Given the description of an element on the screen output the (x, y) to click on. 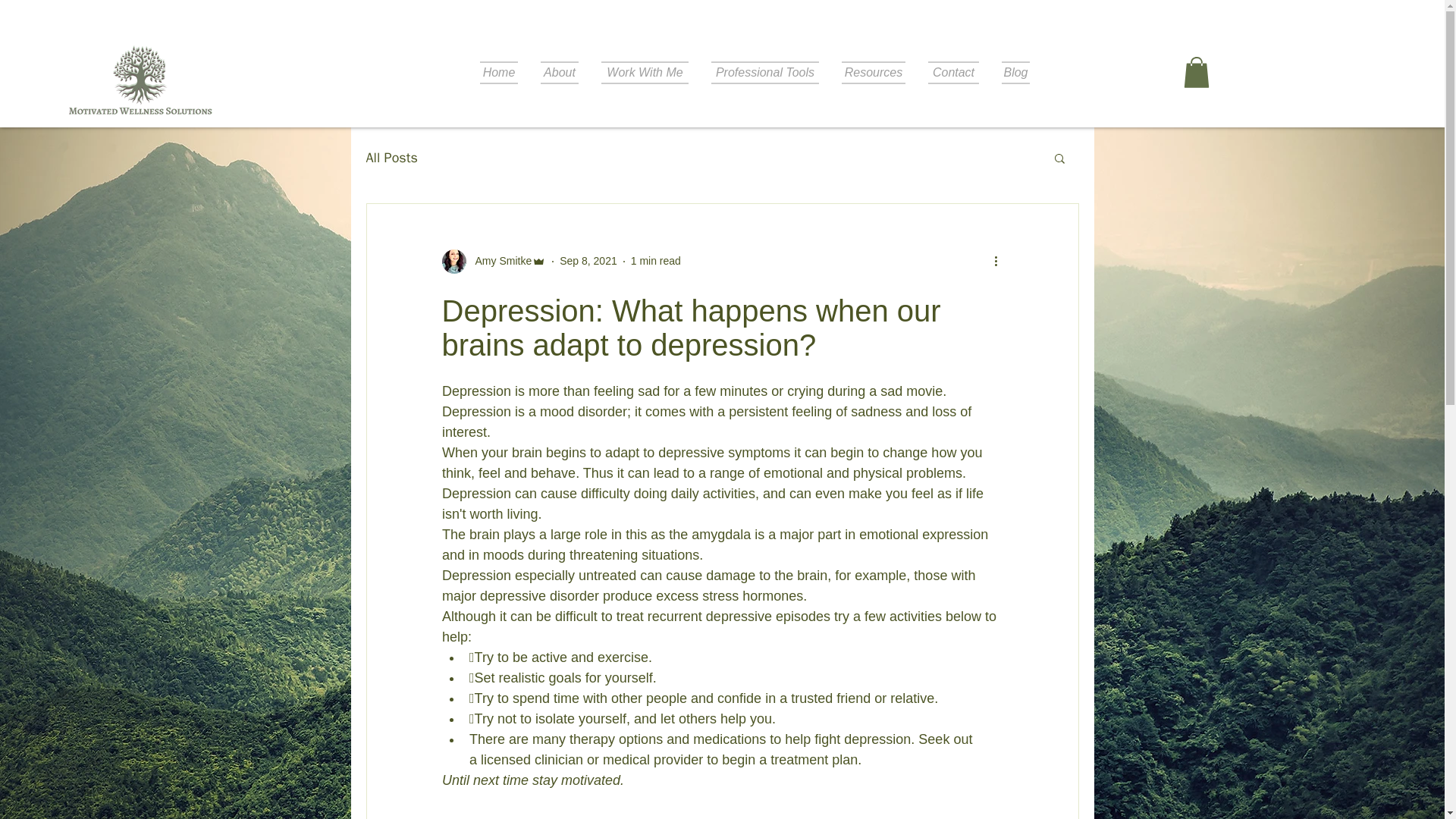
Motivated Wellness New Logo 2023.png (139, 89)
Contact (953, 72)
All Posts (390, 157)
Blog (1015, 72)
Amy Smitke (498, 261)
Home (498, 72)
Work With Me (644, 72)
1 min read (655, 260)
Professional Tools (764, 72)
Resources (873, 72)
Amy Smitke (493, 261)
Sep 8, 2021 (588, 260)
About (559, 72)
